Given the description of an element on the screen output the (x, y) to click on. 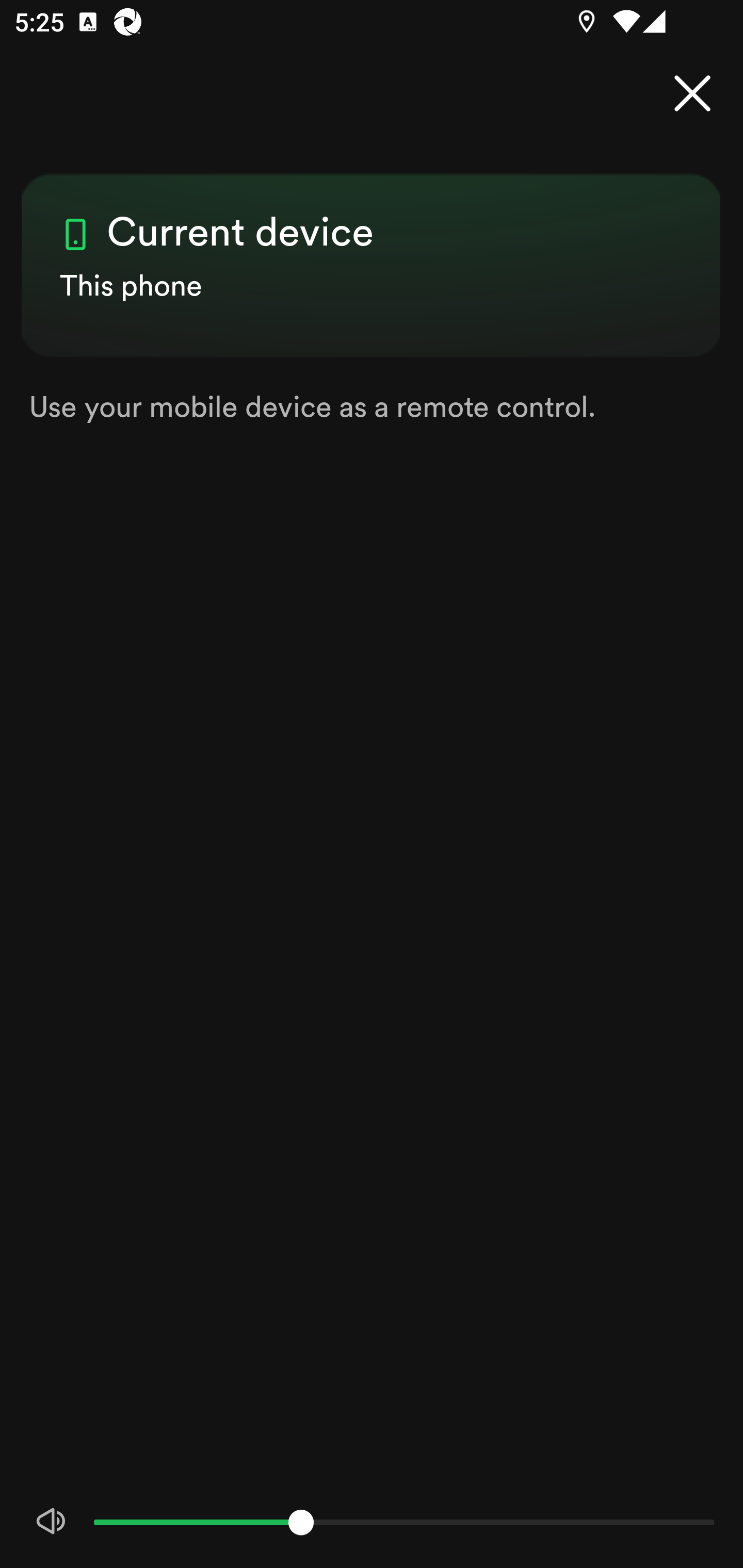
Close (692, 93)
Current device This phone (371, 247)
